Given the description of an element on the screen output the (x, y) to click on. 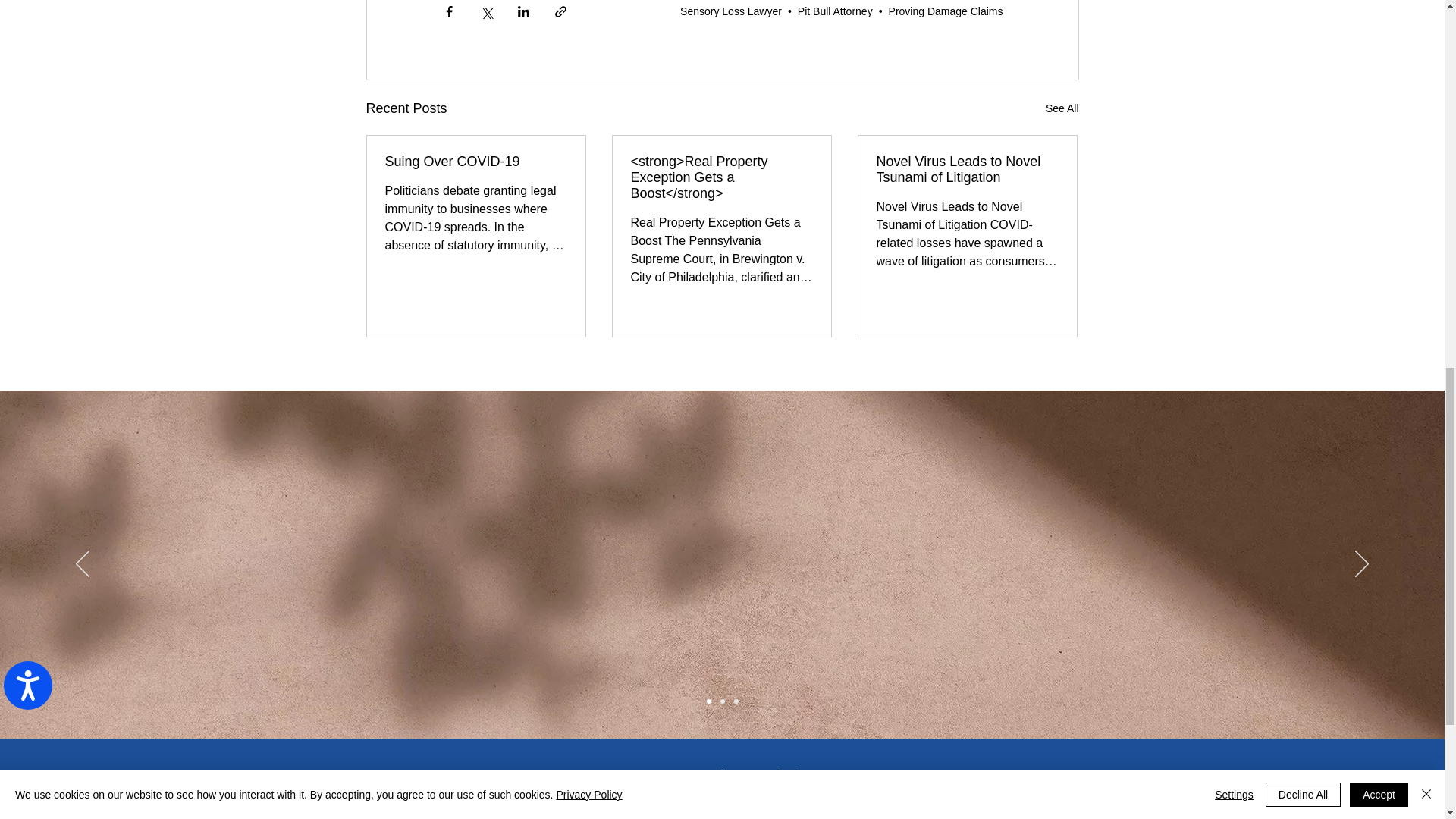
Sensory Loss Lawyer (730, 10)
